Given the description of an element on the screen output the (x, y) to click on. 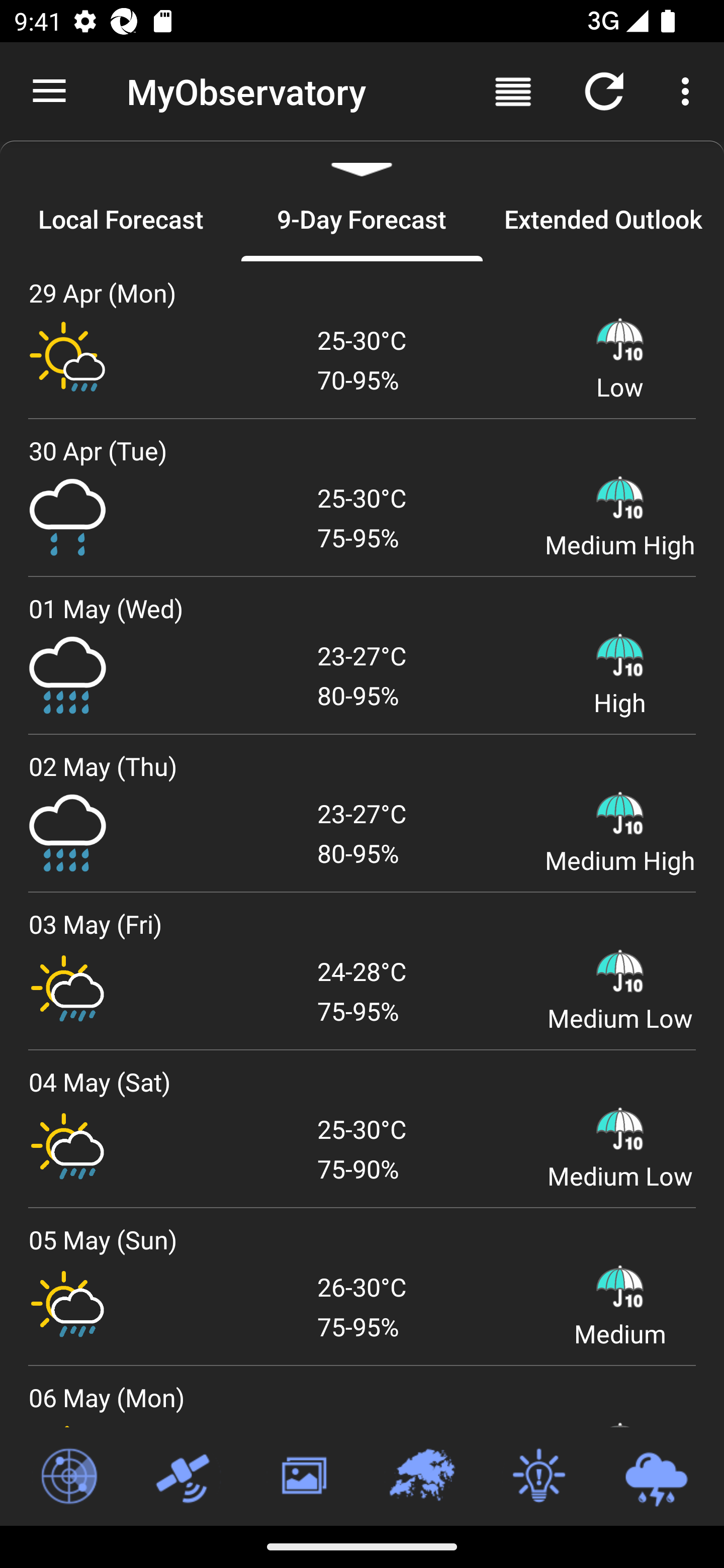
Navigate up (49, 91)
Vertical layout (512, 90)
Refresh (604, 90)
More options (688, 90)
Collapse (362, 159)
Local Forecast (120, 219)
Extended Outlook (603, 219)
Radar Images (68, 1476)
Satellite Images (185, 1476)
Weather Photos (302, 1476)
Regional Weather (420, 1476)
Weather Tips (537, 1476)
Loc-based Rain & Lightning Forecast (655, 1476)
